Given the description of an element on the screen output the (x, y) to click on. 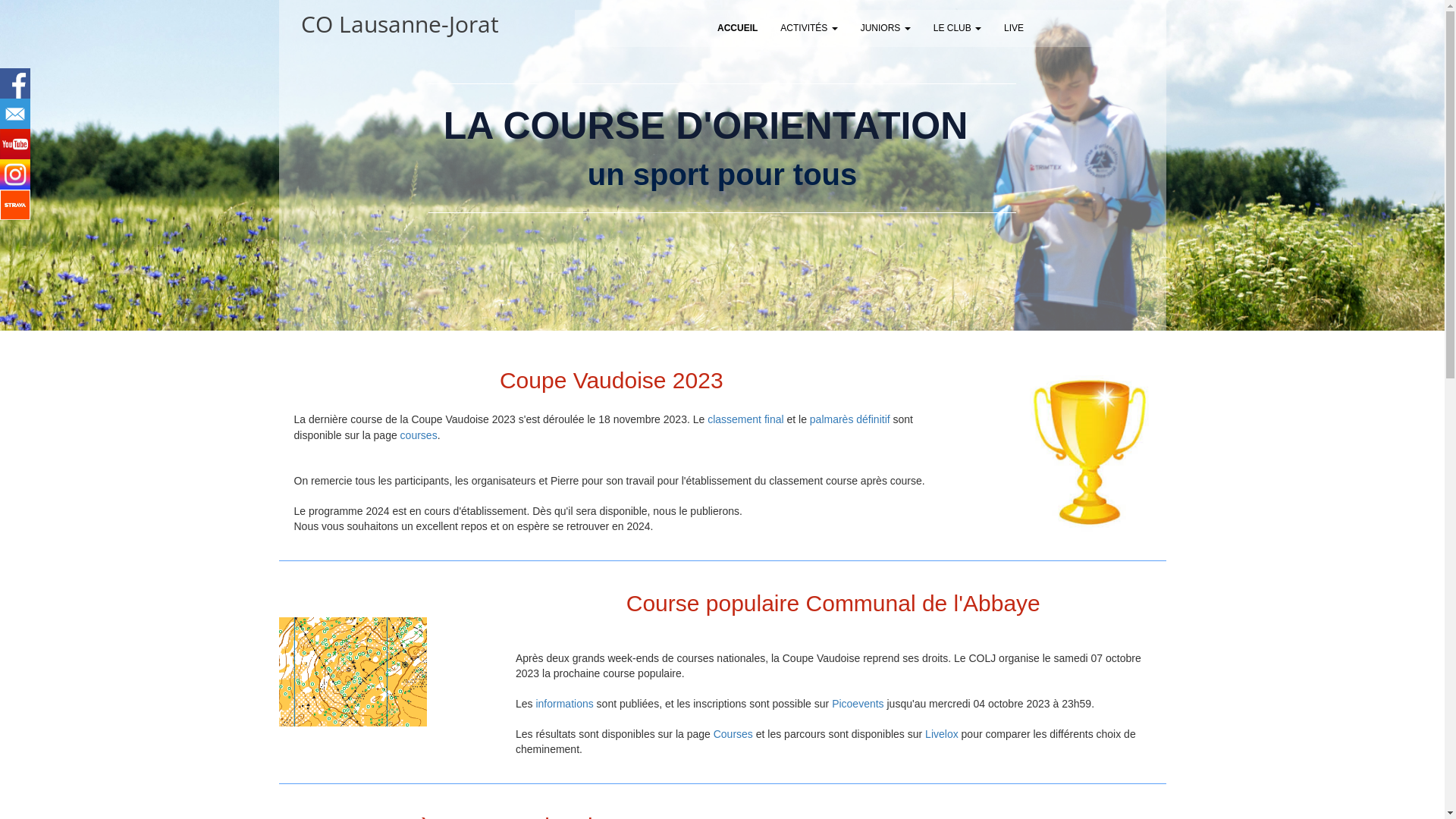
classement final Element type: text (745, 419)
Livelox Element type: text (941, 734)
LIVE Element type: text (1013, 28)
ACCUEIL Element type: text (737, 28)
JUNIORS Element type: text (885, 28)
informations Element type: text (564, 703)
courses Element type: text (418, 435)
CO Lausanne-Jorat Element type: text (399, 24)
LE CLUB Element type: text (957, 28)
Picoevents Element type: text (857, 703)
Courses Element type: text (733, 734)
